Given the description of an element on the screen output the (x, y) to click on. 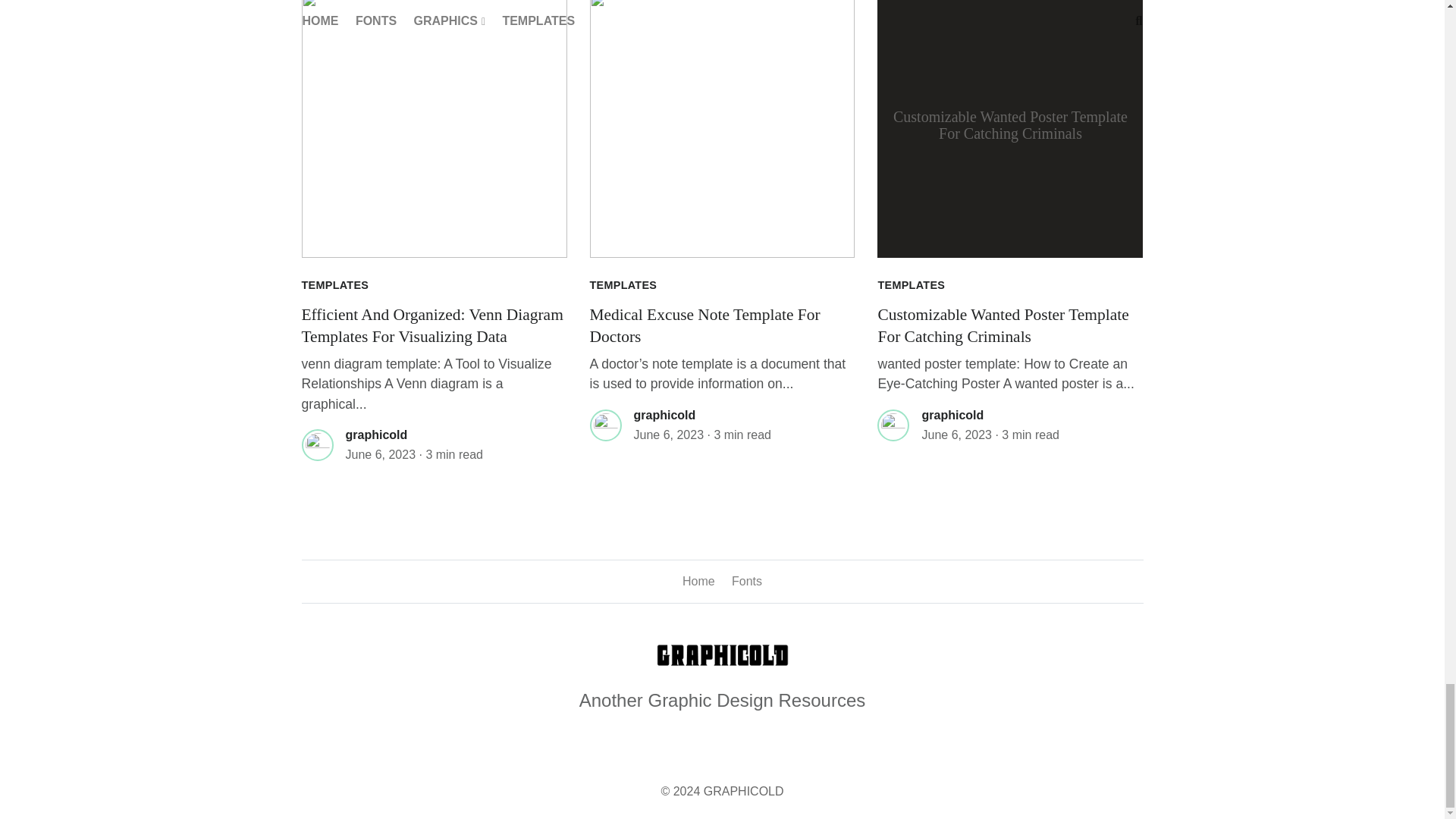
Posts by graphicold (376, 434)
Posts by graphicold (952, 414)
Posts by graphicold (664, 414)
